Given the description of an element on the screen output the (x, y) to click on. 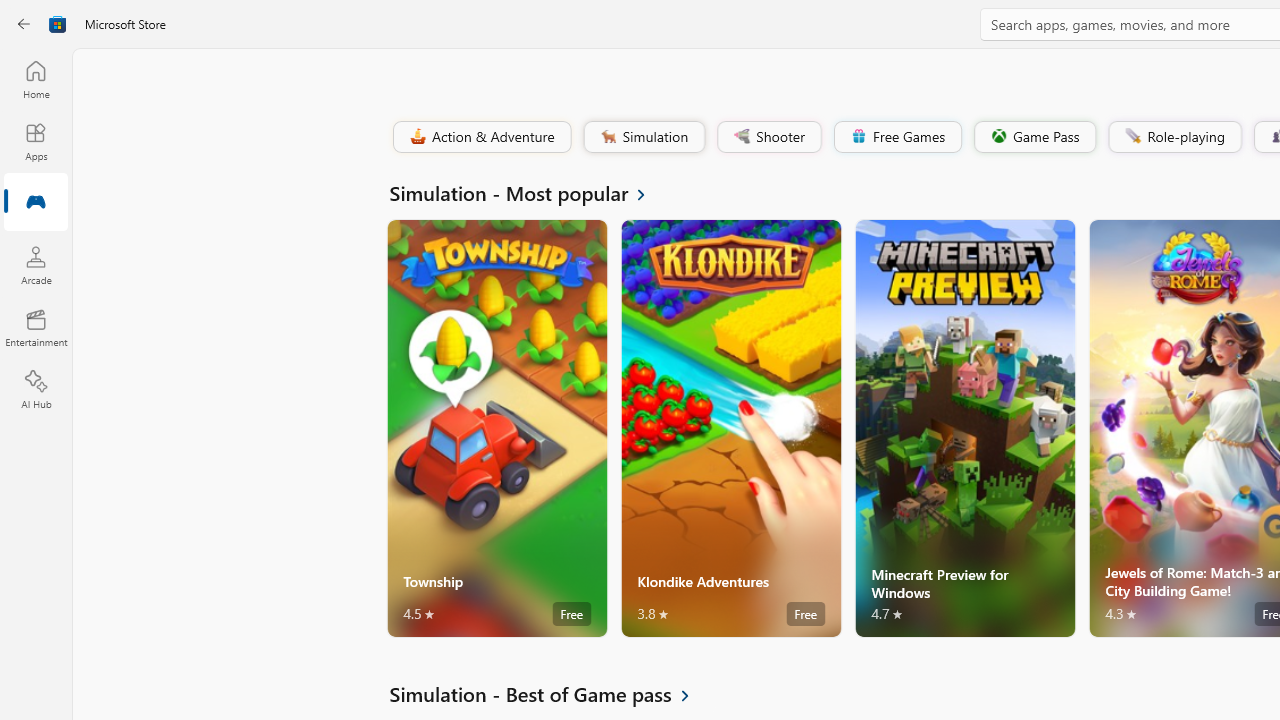
Free Games (897, 136)
Entertainment (35, 327)
Game Pass (1033, 136)
